Given the description of an element on the screen output the (x, y) to click on. 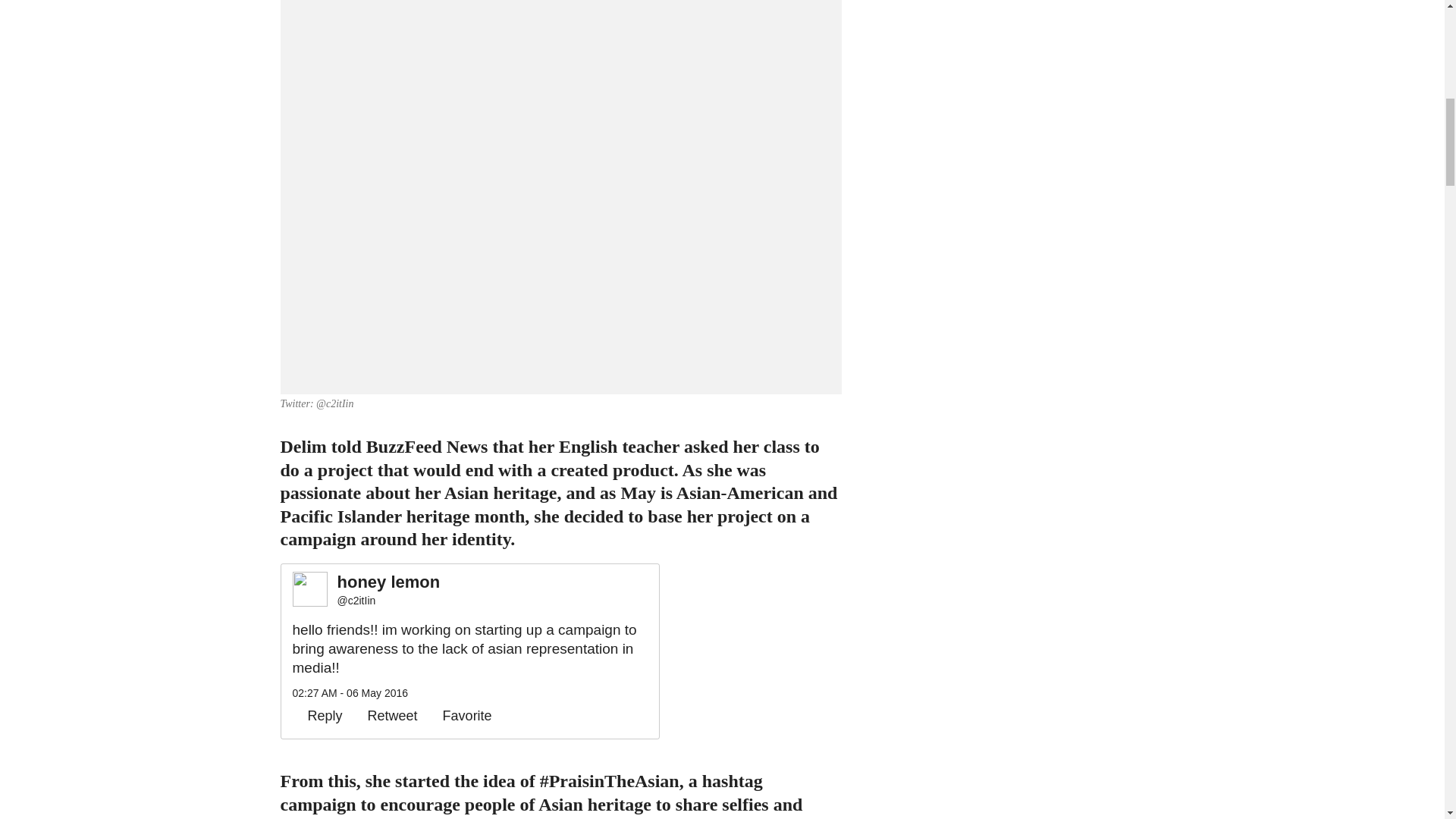
Favorite (460, 715)
Retweet (384, 715)
honey lemon (389, 582)
02:27 AM - 06 May 2016 (350, 693)
Reply (317, 715)
